Given the description of an element on the screen output the (x, y) to click on. 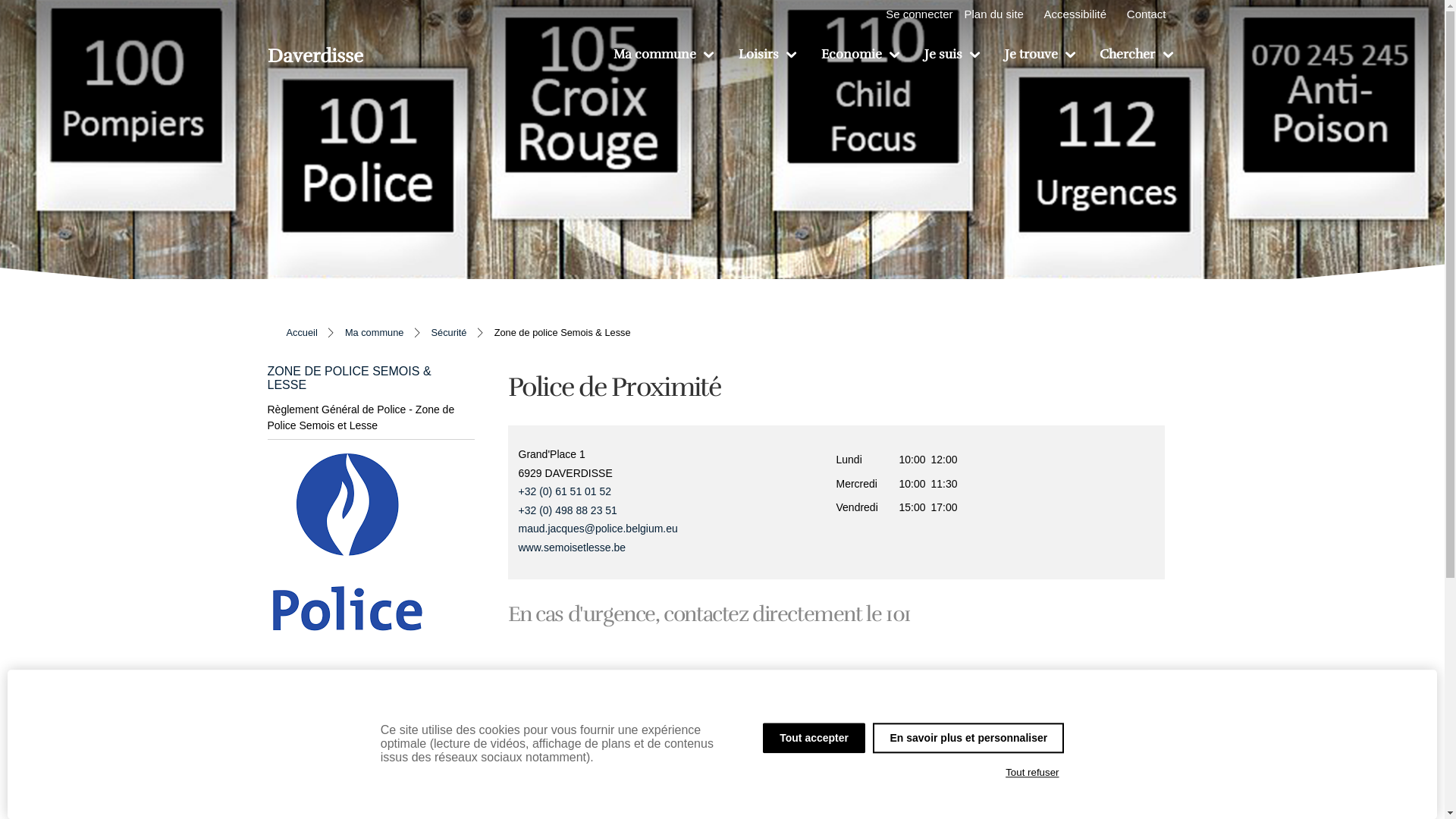
Accueil Element type: text (301, 332)
Contact Element type: text (1146, 13)
maud.jacques@police.belgium.eu Element type: text (597, 528)
Je suis Element type: text (951, 54)
Economie Element type: text (859, 54)
Se connecter Element type: text (918, 13)
Je trouve Element type: text (1038, 54)
En savoir plus et personnaliser Element type: text (967, 737)
www.semoisetlesse.be Element type: text (572, 547)
Aller au contenu. Element type: text (1200, 56)
Ma commune Element type: text (374, 332)
Tout refuser Element type: text (1032, 772)
Plan du site Element type: text (993, 13)
Ma commune Element type: text (662, 54)
Loisirs Element type: text (766, 54)
Tout accepter Element type: text (813, 737)
Chercher Element type: text (1135, 54)
ZONE DE POLICE SEMOIS & LESSE Element type: text (363, 378)
+32 (0) 498 88 23 51 Element type: text (677, 510)
+32 (0) 61 51 01 52 Element type: text (677, 491)
Commune de Daverdisse Element type: hover (314, 57)
